Given the description of an element on the screen output the (x, y) to click on. 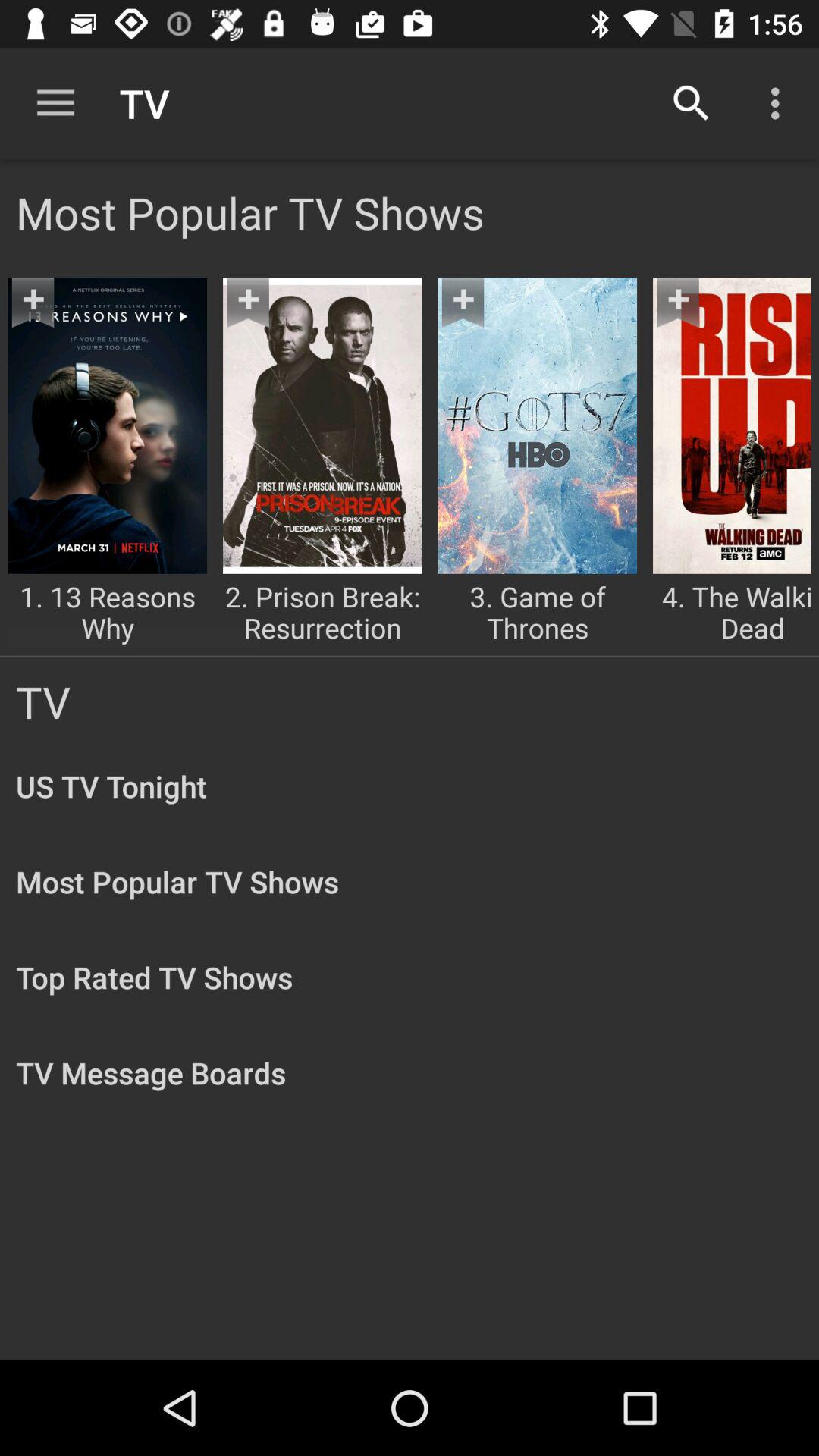
click the icon above the most popular tv item (691, 103)
